Given the description of an element on the screen output the (x, y) to click on. 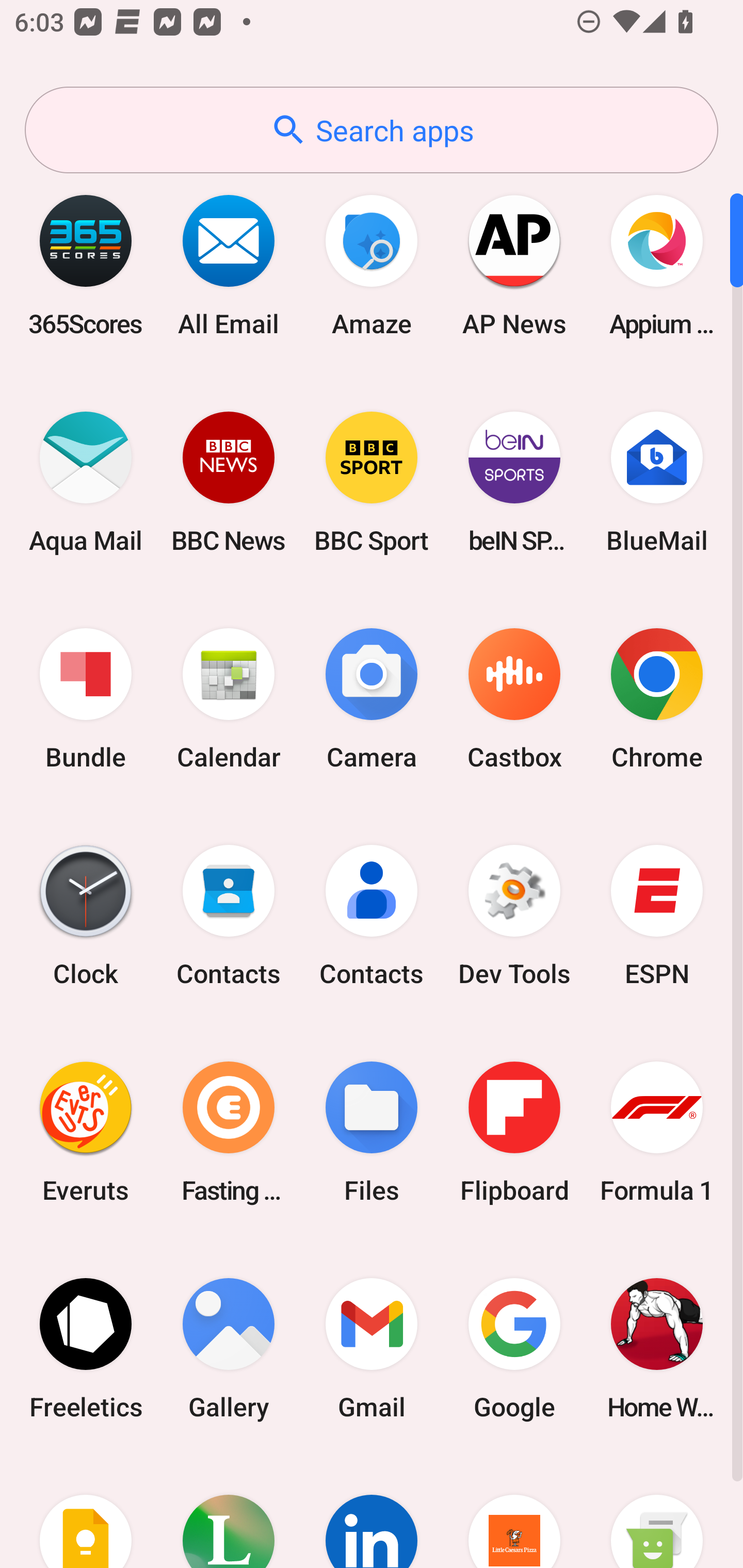
  Search apps (371, 130)
365Scores (85, 264)
All Email (228, 264)
Amaze (371, 264)
AP News (514, 264)
Appium Settings (656, 264)
Aqua Mail (85, 482)
BBC News (228, 482)
BBC Sport (371, 482)
beIN SPORTS (514, 482)
BlueMail (656, 482)
Bundle (85, 699)
Calendar (228, 699)
Camera (371, 699)
Castbox (514, 699)
Chrome (656, 699)
Clock (85, 915)
Contacts (228, 915)
Contacts (371, 915)
Dev Tools (514, 915)
ESPN (656, 915)
Everuts (85, 1131)
Fasting Coach (228, 1131)
Files (371, 1131)
Flipboard (514, 1131)
Formula 1 (656, 1131)
Freeletics (85, 1348)
Gallery (228, 1348)
Gmail (371, 1348)
Google (514, 1348)
Home Workout (656, 1348)
